Given the description of an element on the screen output the (x, y) to click on. 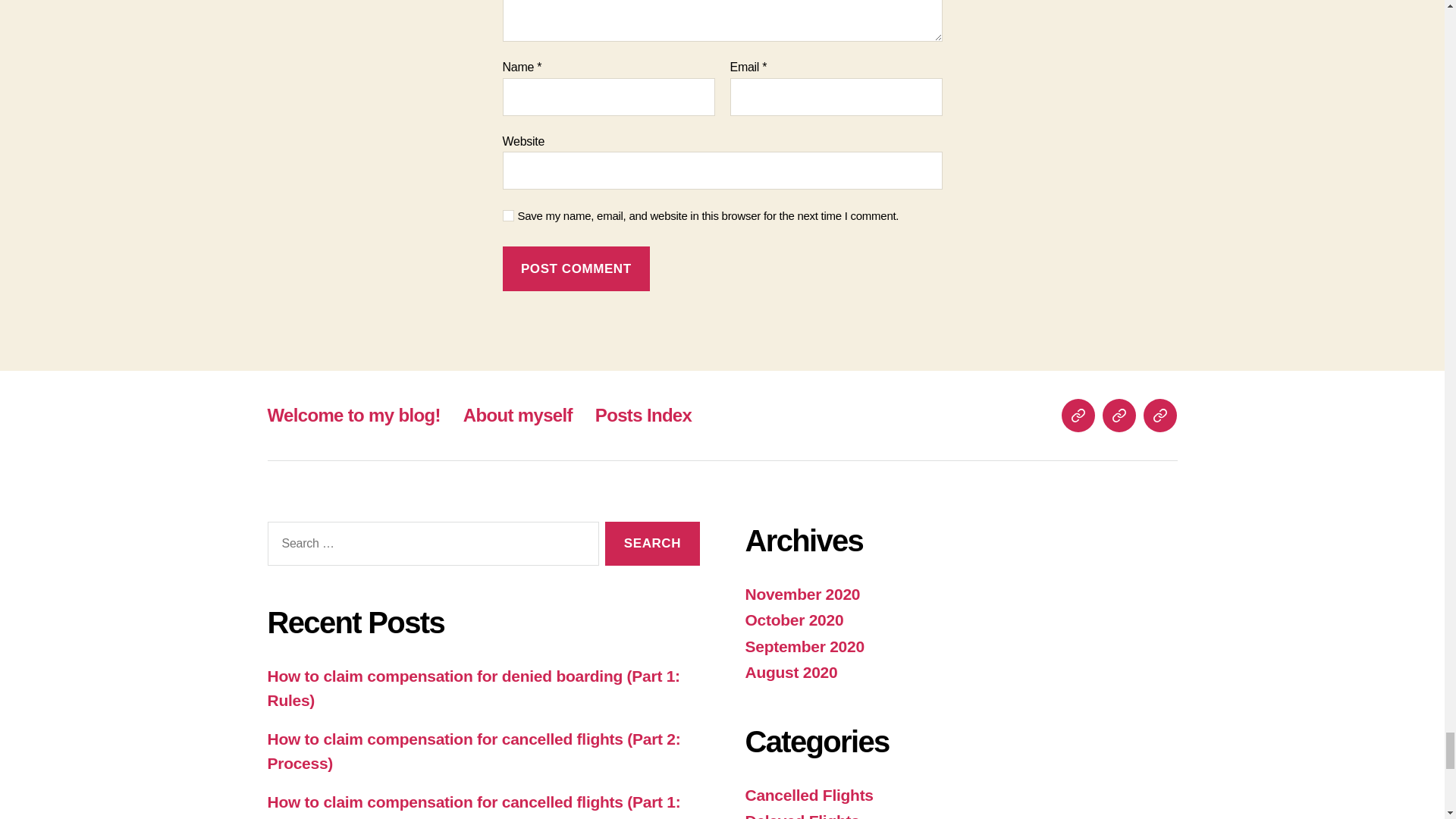
yes (507, 215)
Post Comment (575, 268)
Search (651, 543)
Search (651, 543)
